Given the description of an element on the screen output the (x, y) to click on. 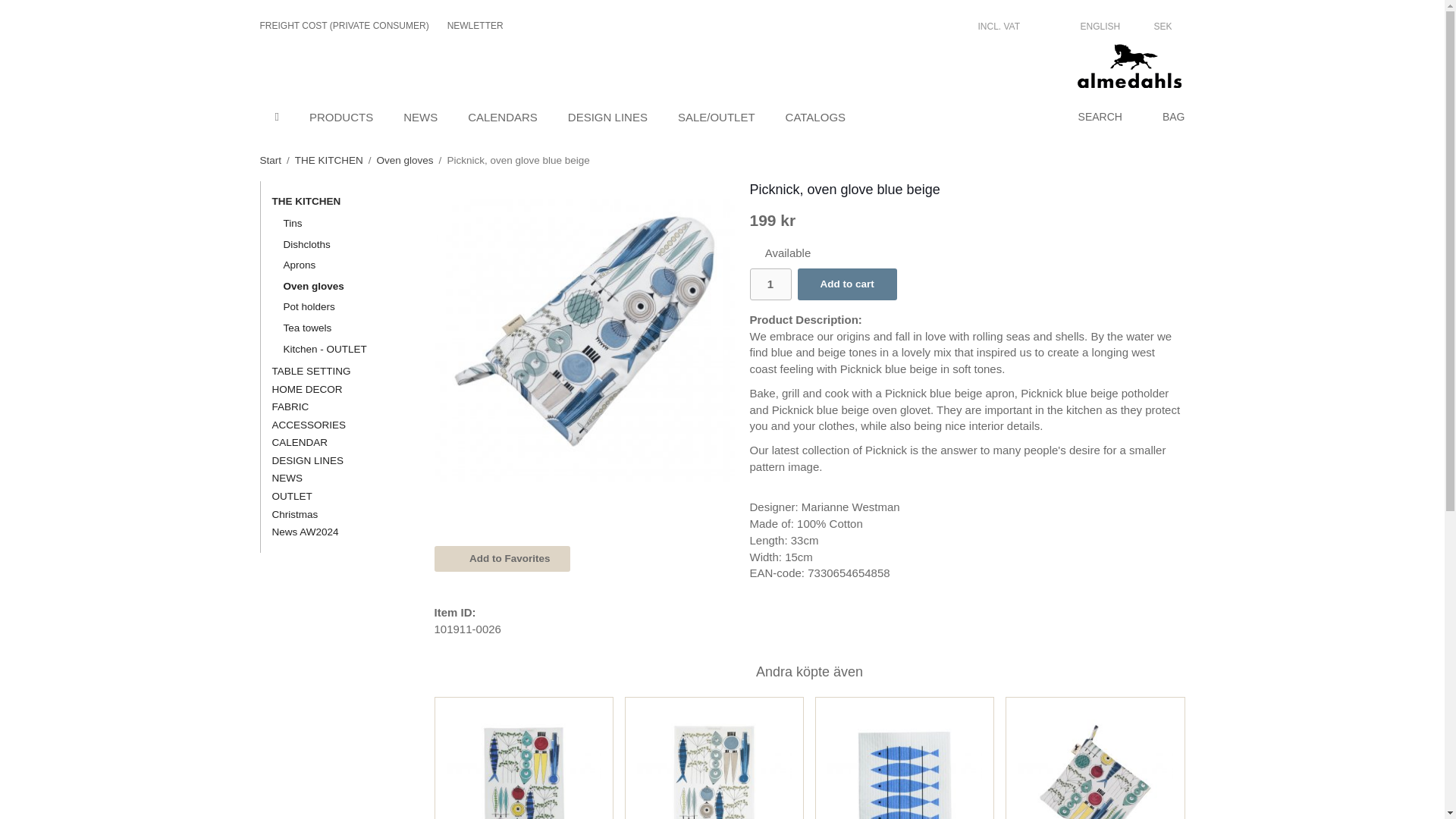
DESIGN LINES (607, 117)
Dishcloths (341, 244)
Tins (341, 223)
Kitchen - OUTLET (341, 348)
Oven gloves (405, 160)
THE KITCHEN (328, 160)
Start (270, 160)
Pot holders (341, 306)
THE KITCHEN (334, 201)
Oven gloves (341, 286)
